Given the description of an element on the screen output the (x, y) to click on. 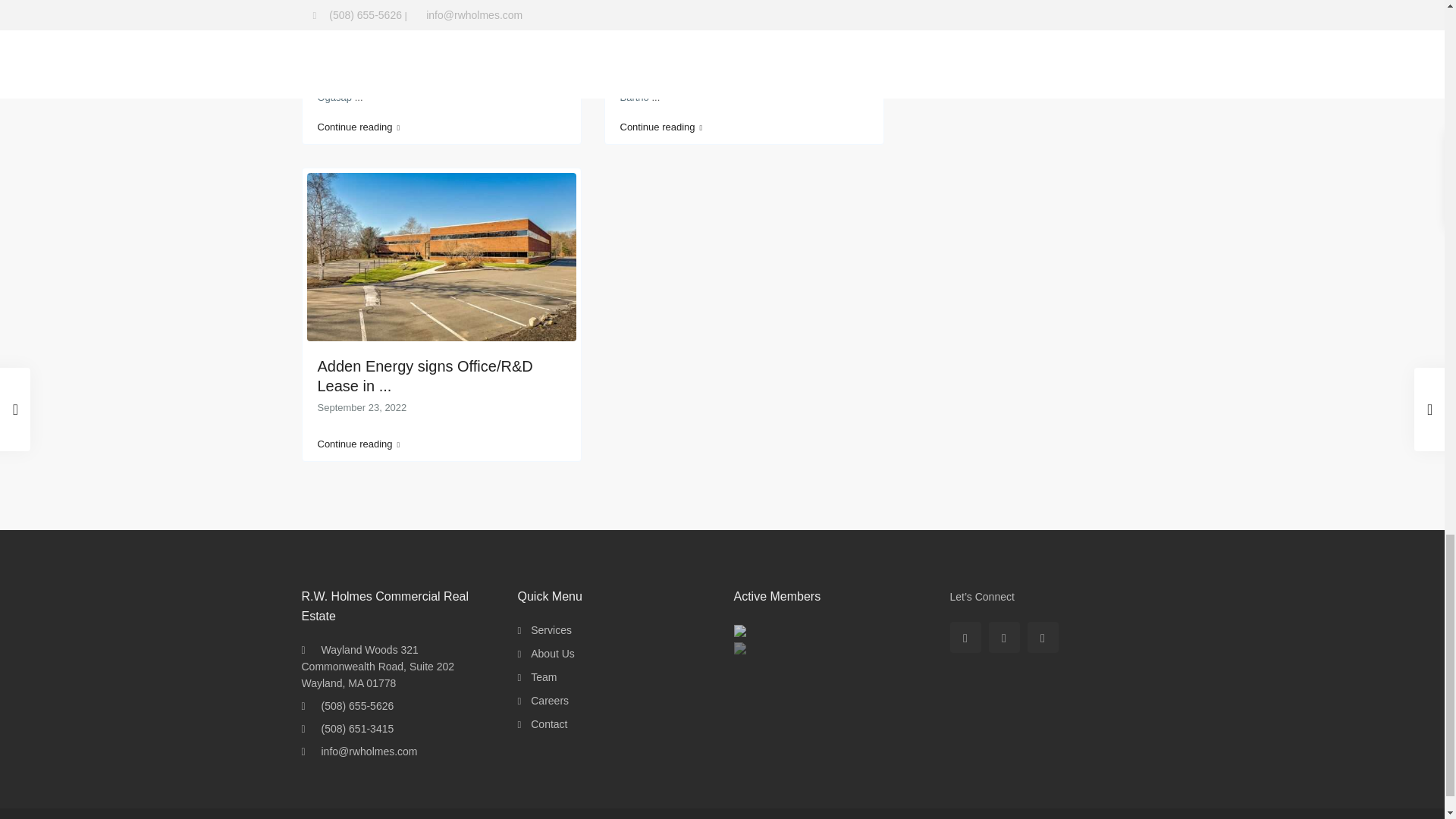
About (553, 653)
Team (543, 676)
Contact (549, 724)
Services (551, 630)
Careers (550, 700)
